Given the description of an element on the screen output the (x, y) to click on. 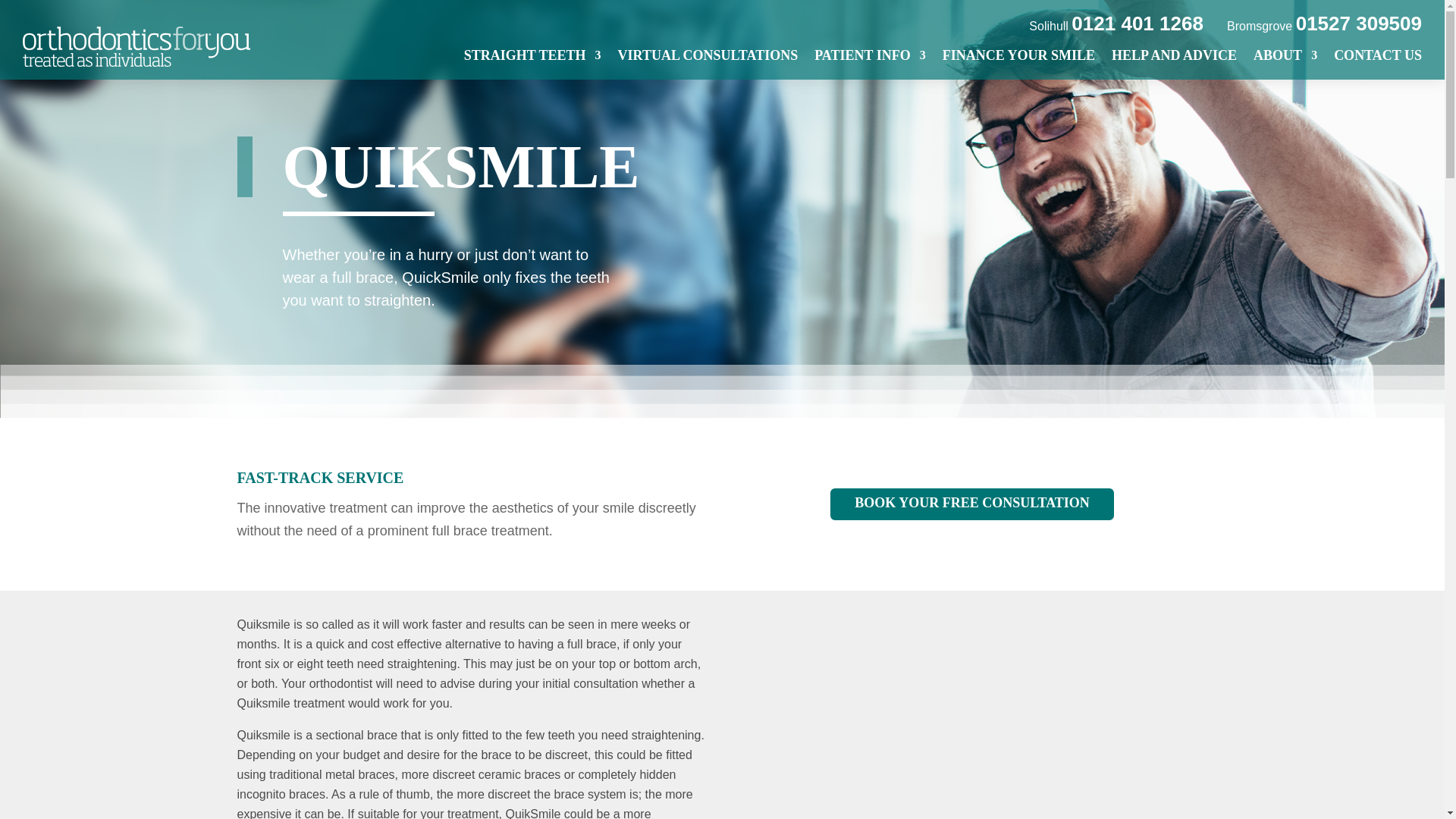
FINANCE YOUR SMILE (1018, 64)
0121 401 1268 (1137, 23)
Sophie's Testimonial HD (972, 717)
01527 309509 (1358, 23)
CONTACT US (1377, 64)
ABOUT (1285, 64)
PATIENT INFO (869, 64)
HELP AND ADVICE (1174, 64)
VIRTUAL CONSULTATIONS (707, 64)
STRAIGHT TEETH (532, 64)
